Given the description of an element on the screen output the (x, y) to click on. 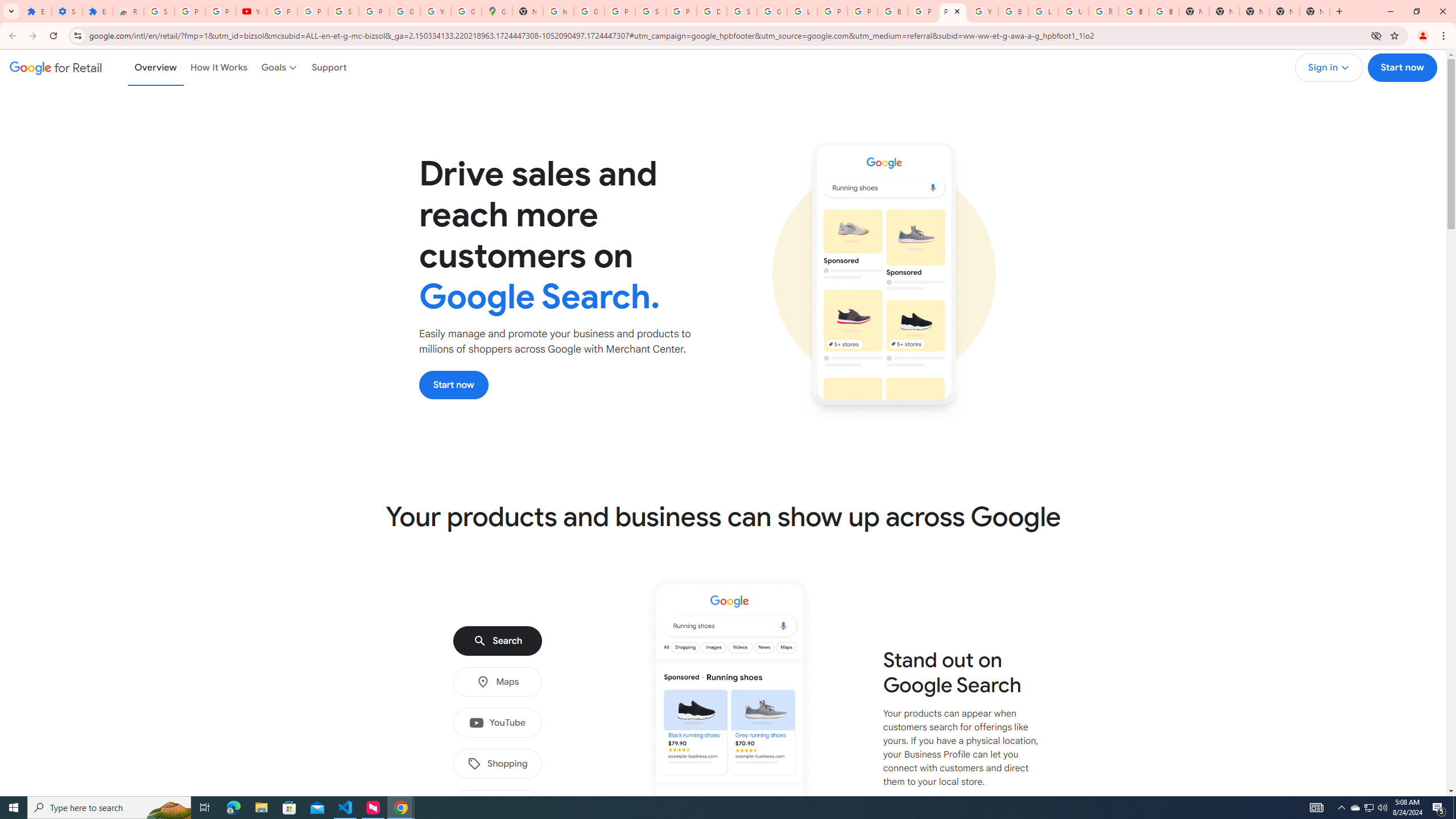
Privacy Help Center - Policies Help (832, 11)
Google for Retail (55, 67)
YouTube (982, 11)
Delete specific Google services or your Google Account (711, 11)
